Given the description of an element on the screen output the (x, y) to click on. 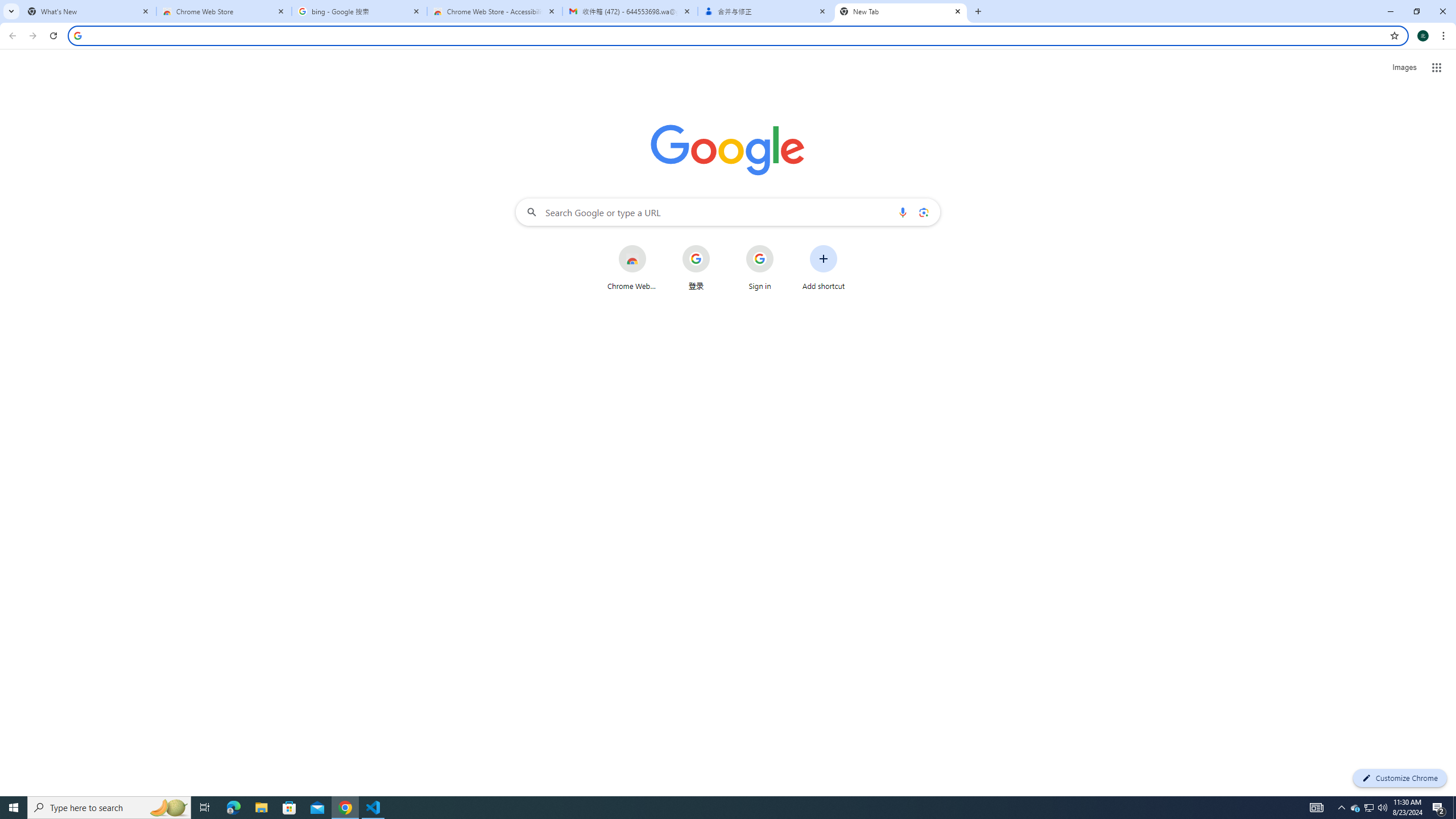
Chrome Web Store (631, 267)
Search, row 1 of 5 and column 2 of 3 in the first section (1348, 130)
Meet, row 2 of 5 and column 3 of 3 in the first section (1402, 185)
Chrome Web Store (224, 11)
Translate, row 4 of 5 and column 3 of 3 in the first section (1402, 294)
